Given the description of an element on the screen output the (x, y) to click on. 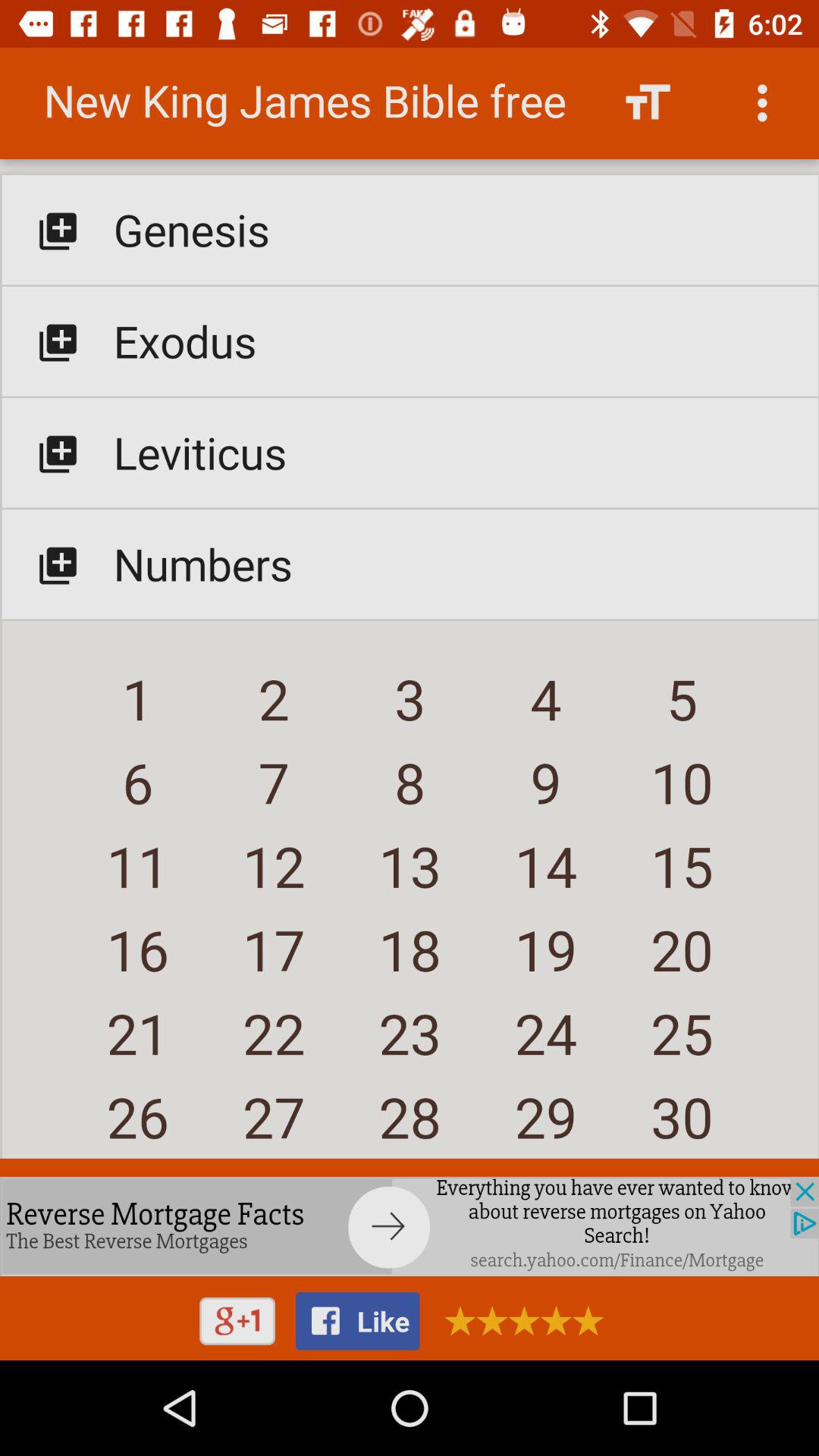
go to advertisement (409, 1226)
